Given the description of an element on the screen output the (x, y) to click on. 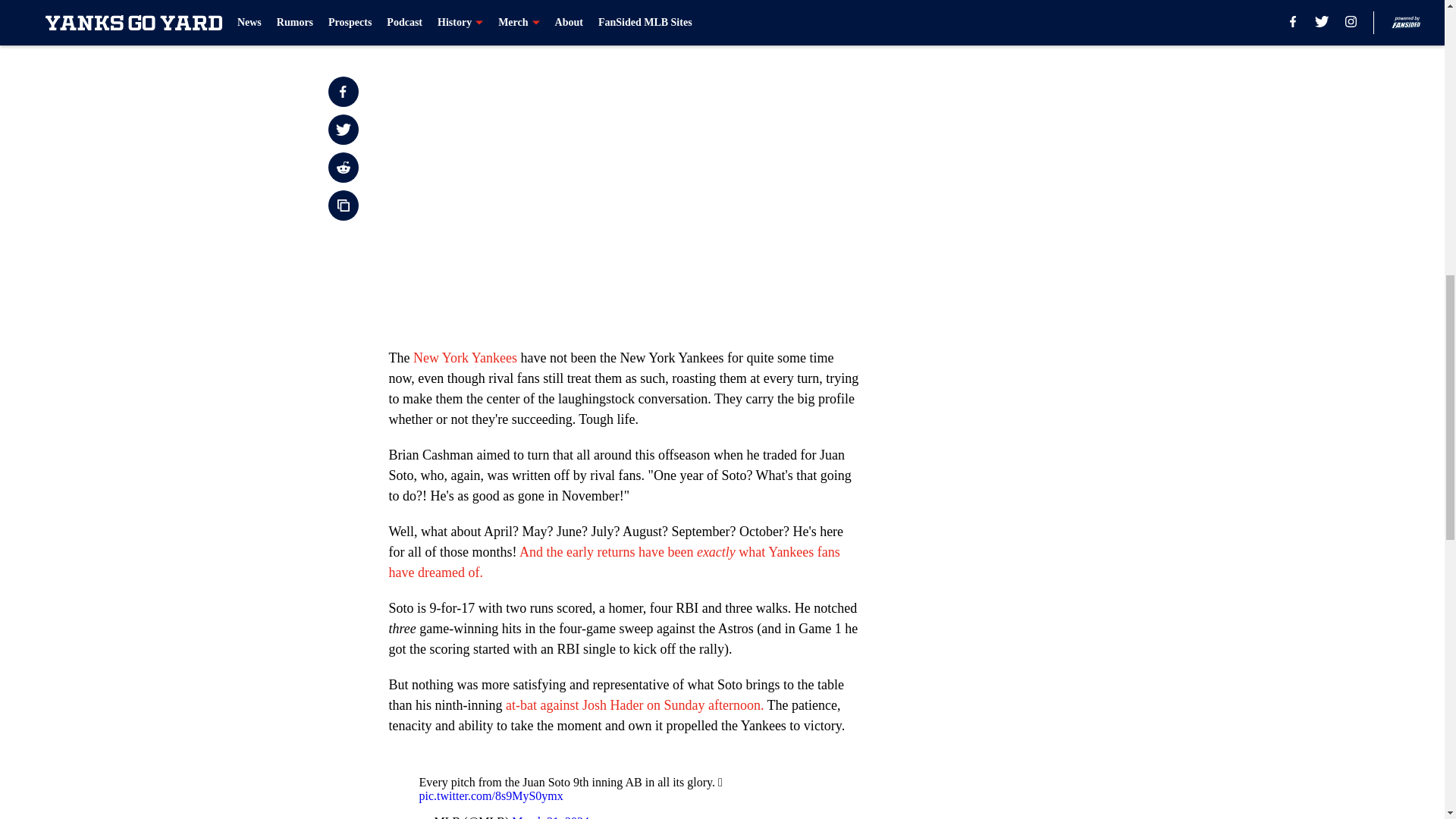
New York Yankees (464, 357)
at-bat against Josh Hader on Sunday afternoon. (633, 704)
March 31, 2024 (550, 816)
